Given the description of an element on the screen output the (x, y) to click on. 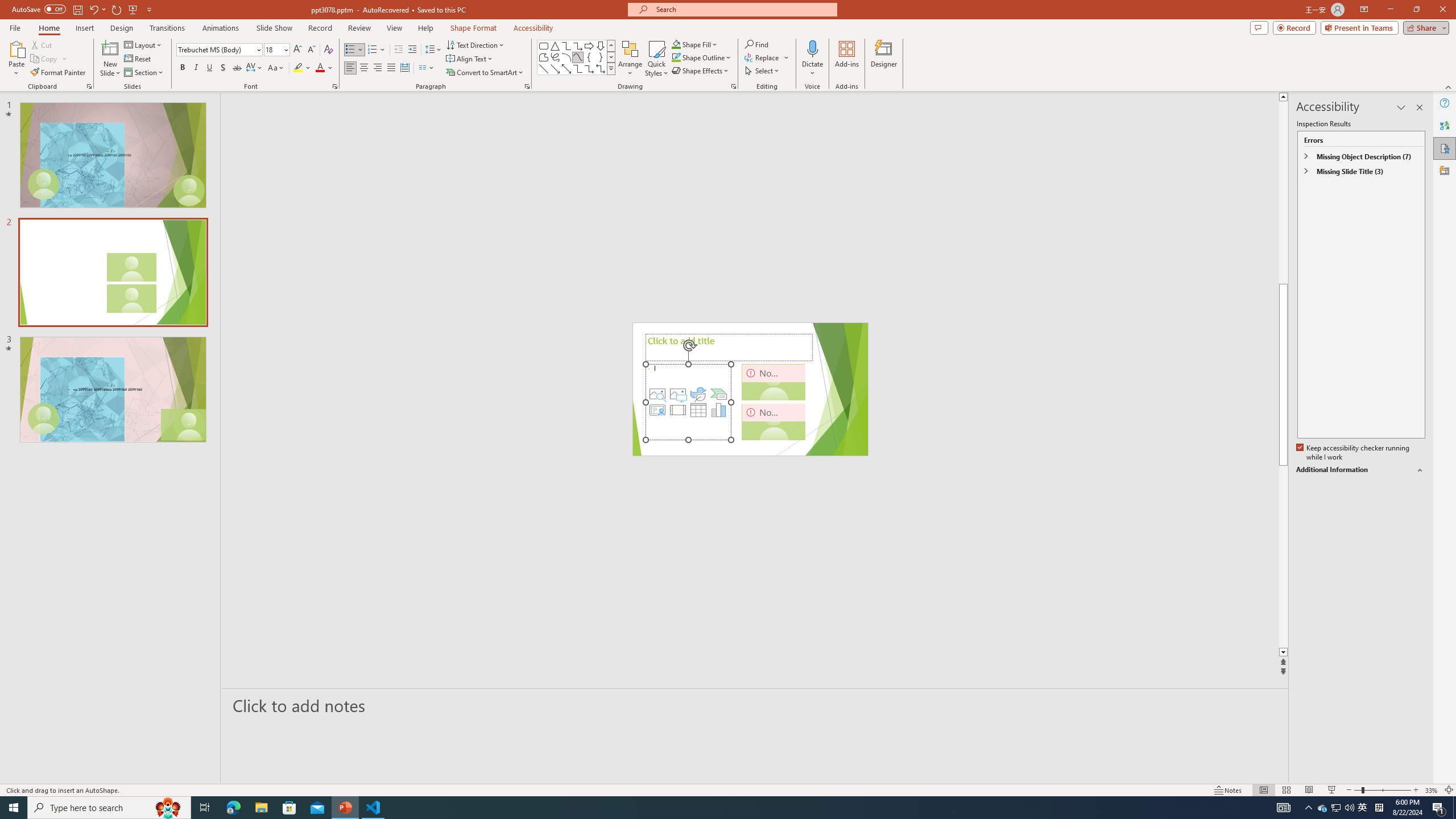
Line Arrow: Double (566, 68)
Camera 3, No camera detected. (773, 421)
Insert Cameo (656, 409)
Title TextBox (728, 347)
